Given the description of an element on the screen output the (x, y) to click on. 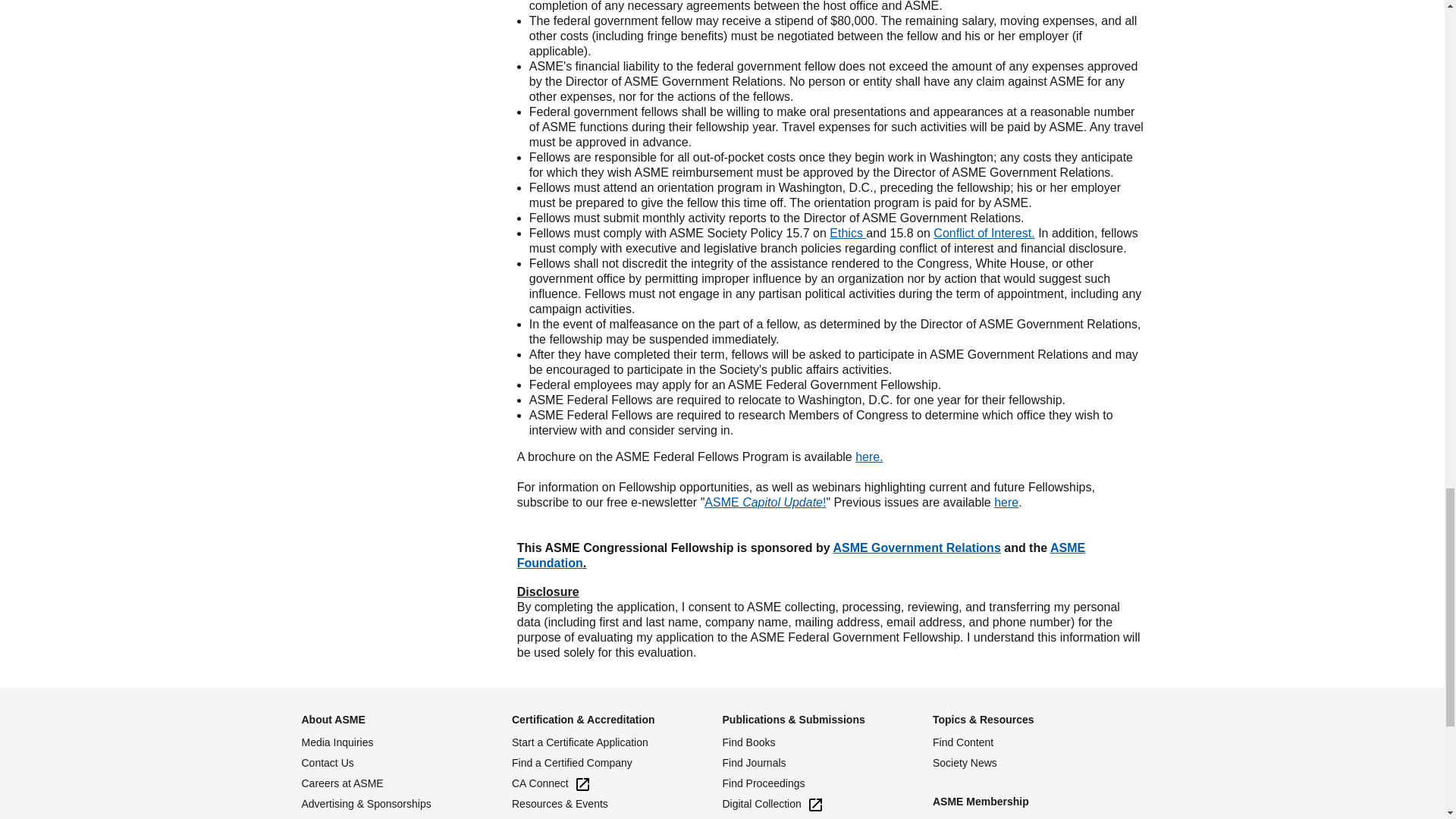
About ASME (333, 719)
Contact Us (406, 762)
Conflict of Interest. (983, 232)
here (1005, 502)
Media Inquiries (406, 742)
ASME Capitol Update! (764, 502)
ASME Government Relations (916, 547)
Careers at ASME (406, 783)
here. (869, 456)
ASME Foundation (800, 555)
Ethics (847, 232)
